Given the description of an element on the screen output the (x, y) to click on. 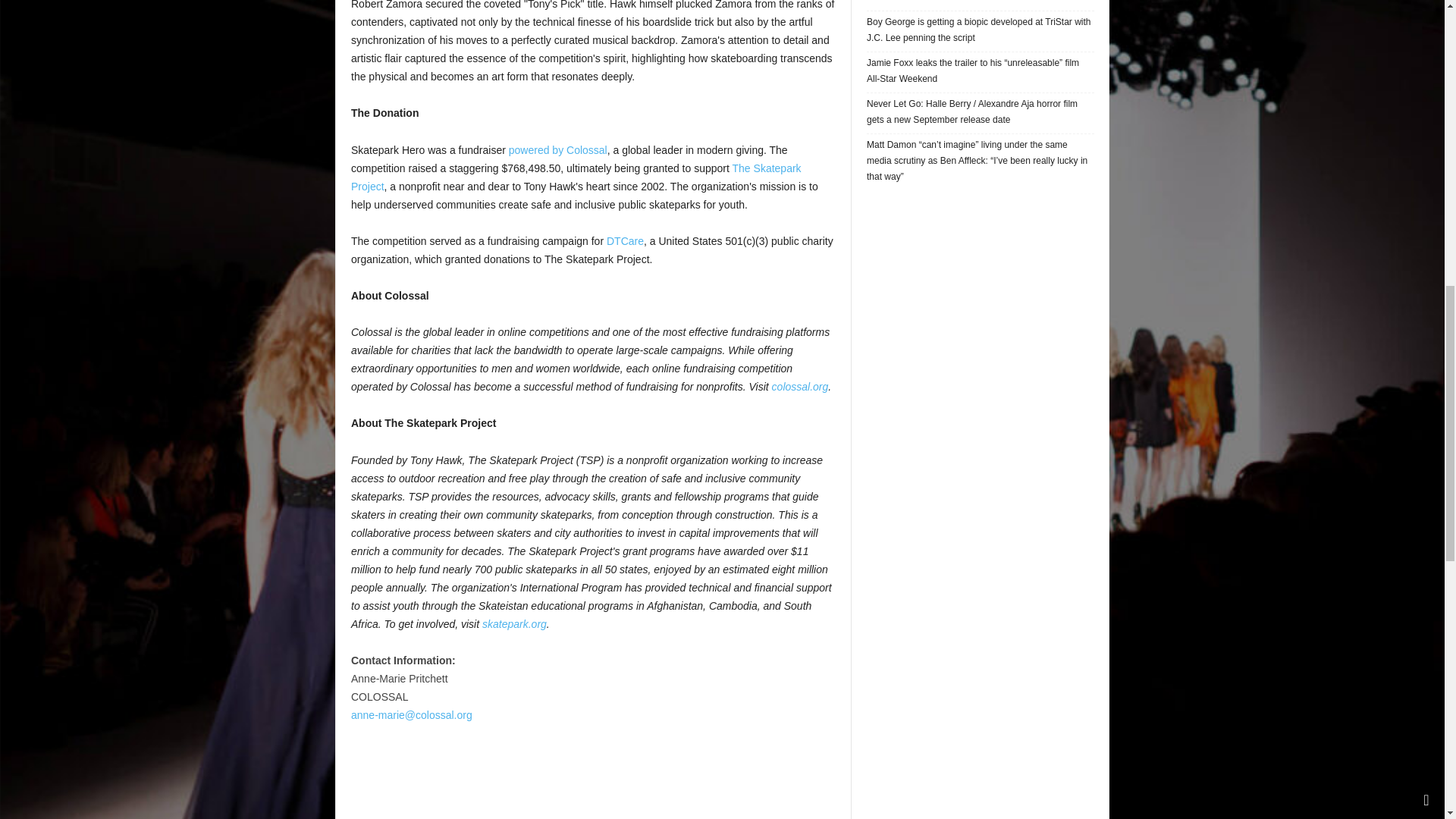
skatepark.org (514, 623)
 DTCare (623, 241)
The Skatepark Project (576, 177)
powered by Colossal (557, 150)
colossal.org (799, 386)
